Given the description of an element on the screen output the (x, y) to click on. 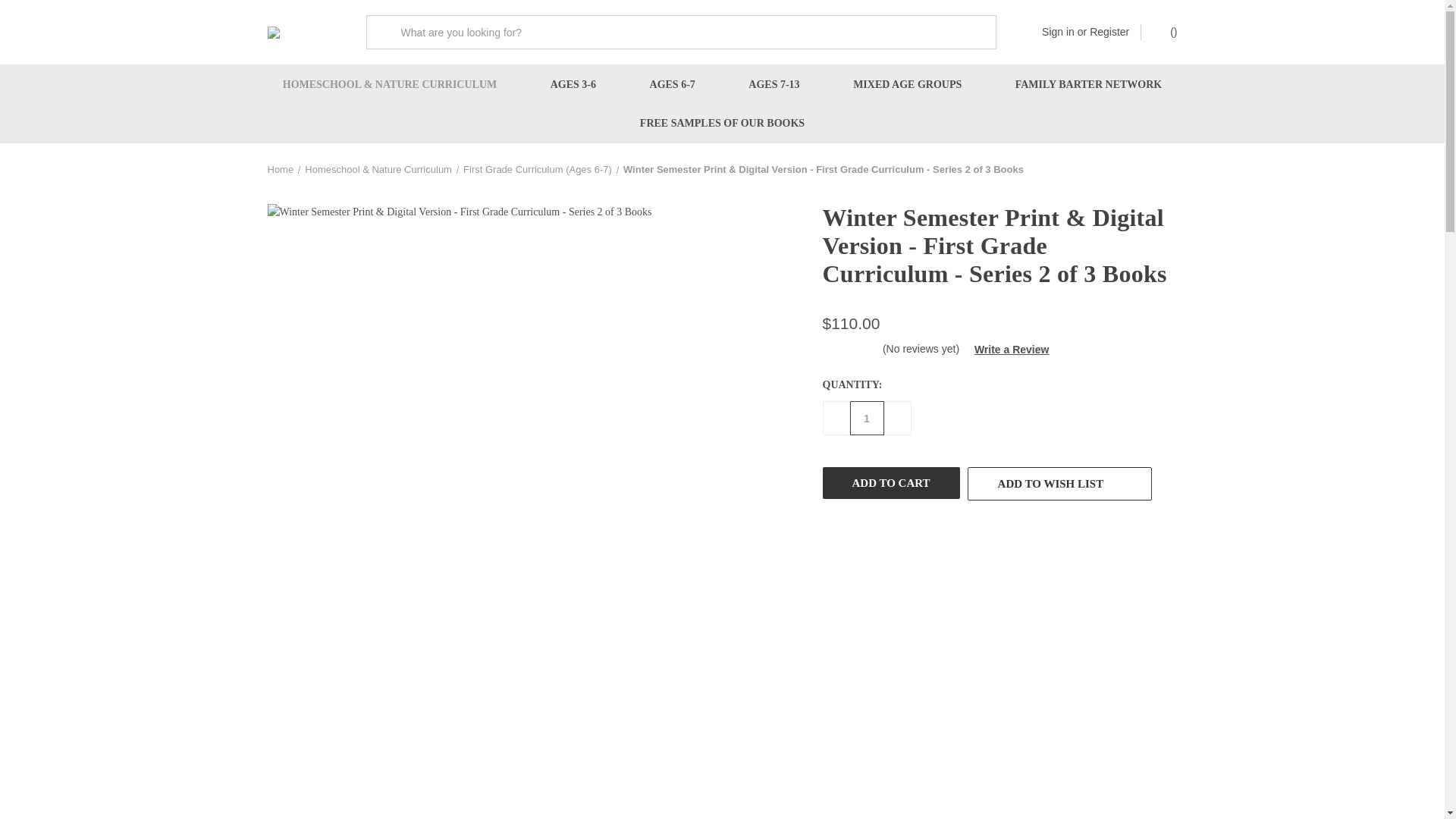
Little Acorn Learning (304, 31)
AGES 7-13 (774, 84)
1 (865, 417)
Add to Cart (890, 482)
FREE SAMPLES OF OUR BOOKS (722, 123)
MIXED AGE GROUPS (907, 84)
FAMILY BARTER NETWORK (1088, 84)
Register (1109, 32)
Home (280, 169)
AGES 3-6 (572, 84)
